Given the description of an element on the screen output the (x, y) to click on. 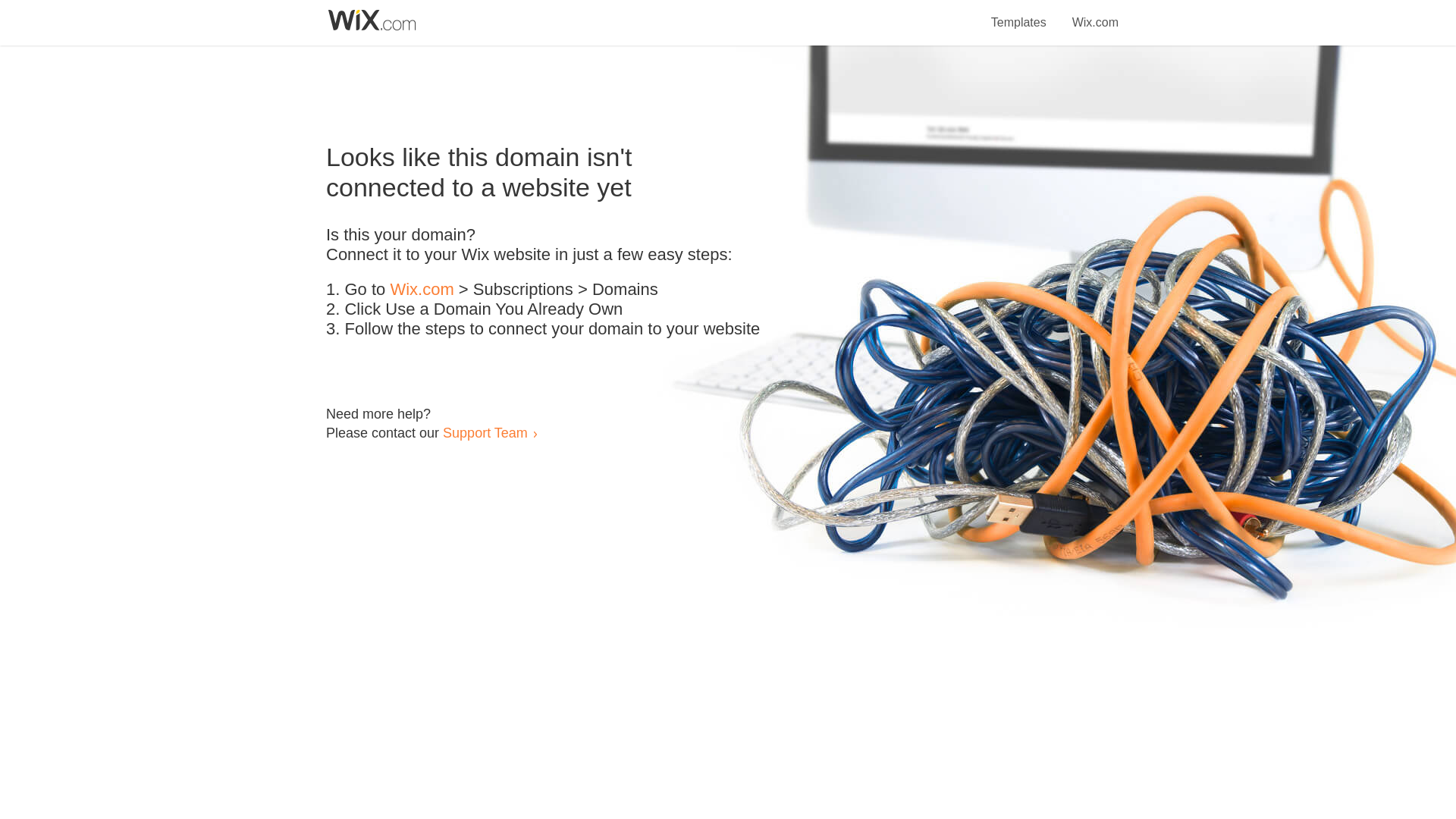
Wix.com (1095, 14)
Wix.com (421, 289)
Support Team (484, 432)
Templates (1018, 14)
